Given the description of an element on the screen output the (x, y) to click on. 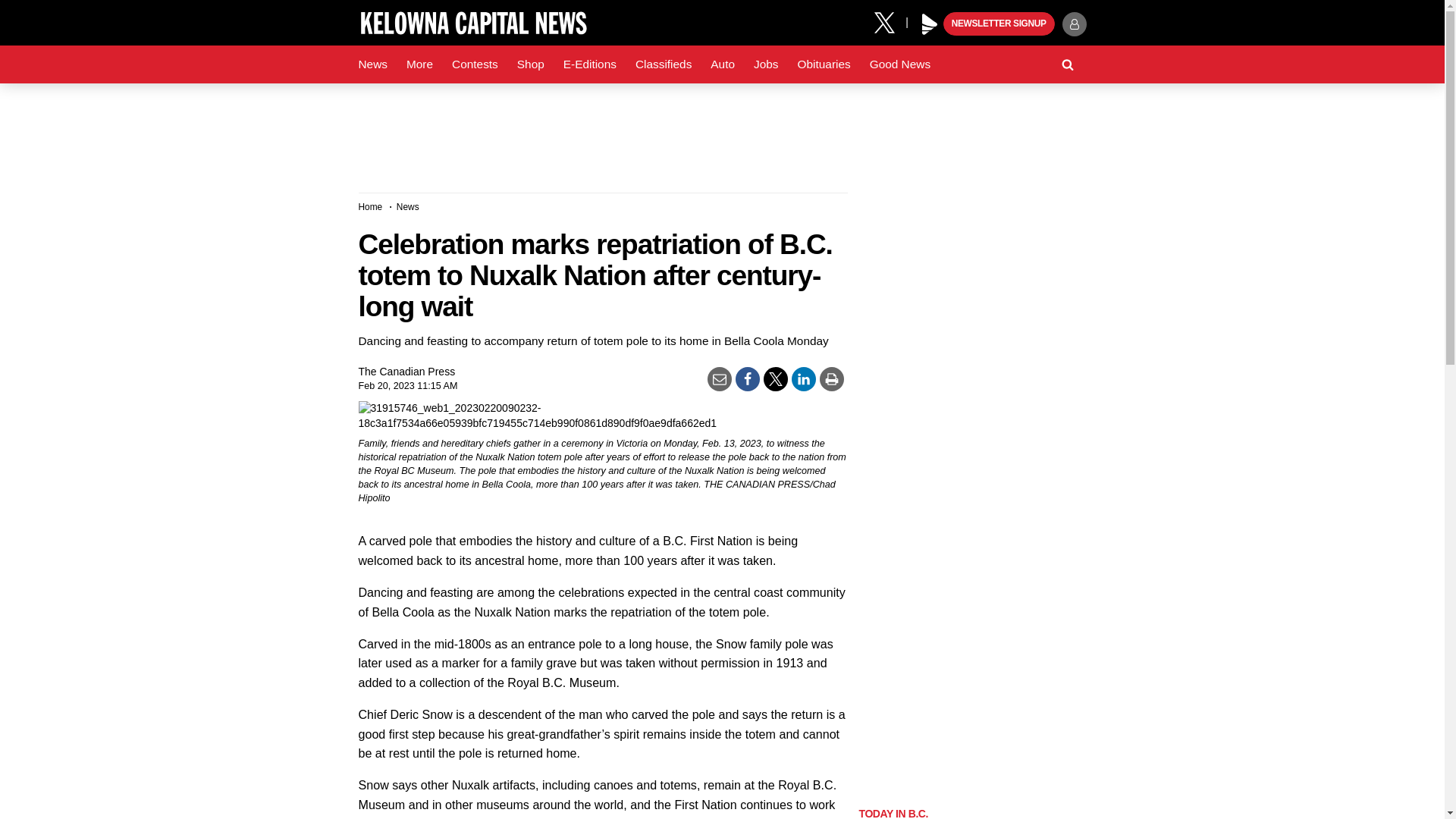
Play (929, 24)
NEWSLETTER SIGNUP (998, 24)
X (889, 21)
Black Press Media (929, 24)
News (372, 64)
